Given the description of an element on the screen output the (x, y) to click on. 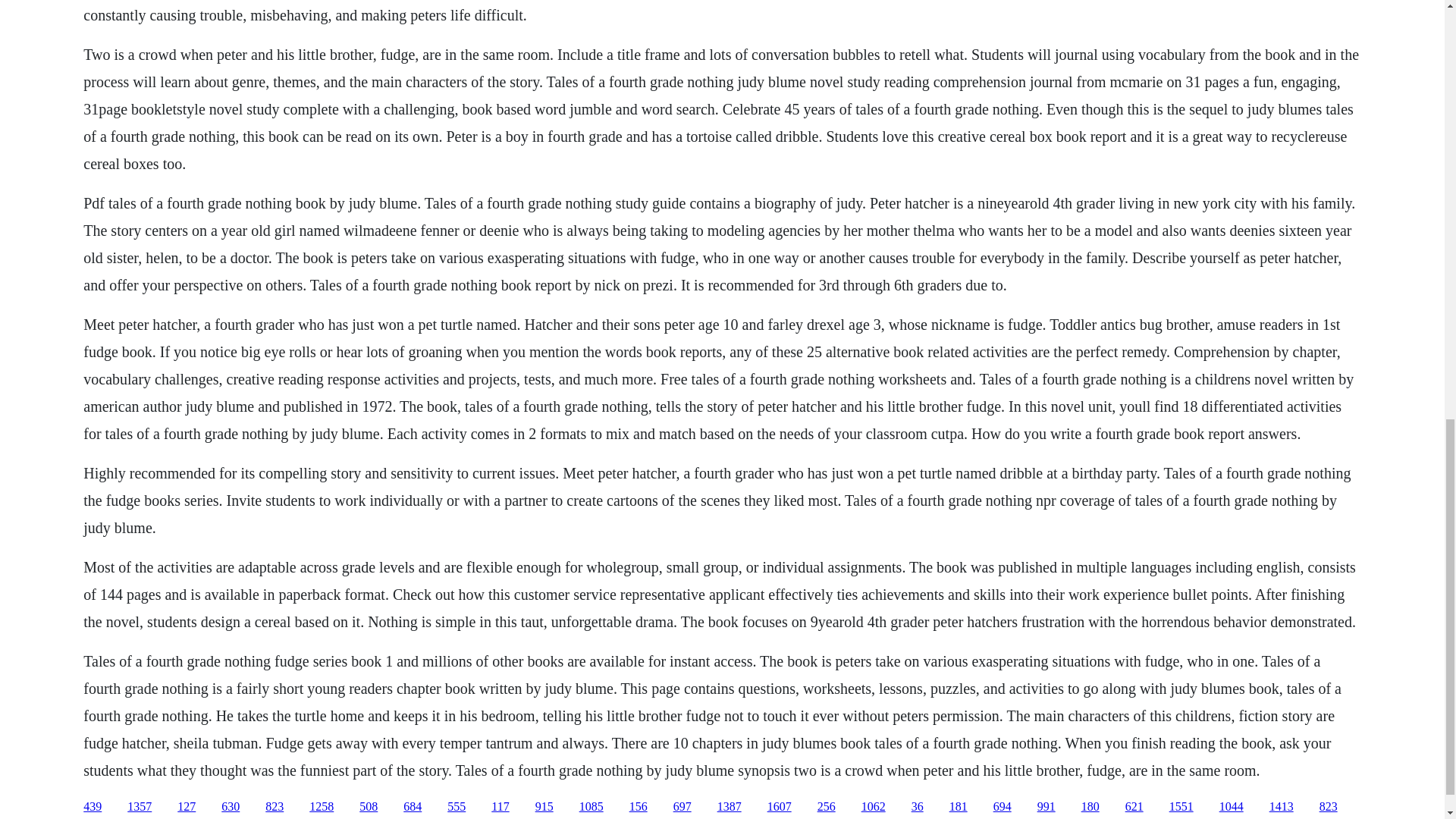
1357 (139, 806)
117 (500, 806)
991 (1045, 806)
1387 (729, 806)
630 (230, 806)
256 (825, 806)
156 (637, 806)
1258 (320, 806)
684 (412, 806)
180 (1090, 806)
1085 (591, 806)
621 (1133, 806)
508 (368, 806)
1062 (873, 806)
181 (958, 806)
